Given the description of an element on the screen output the (x, y) to click on. 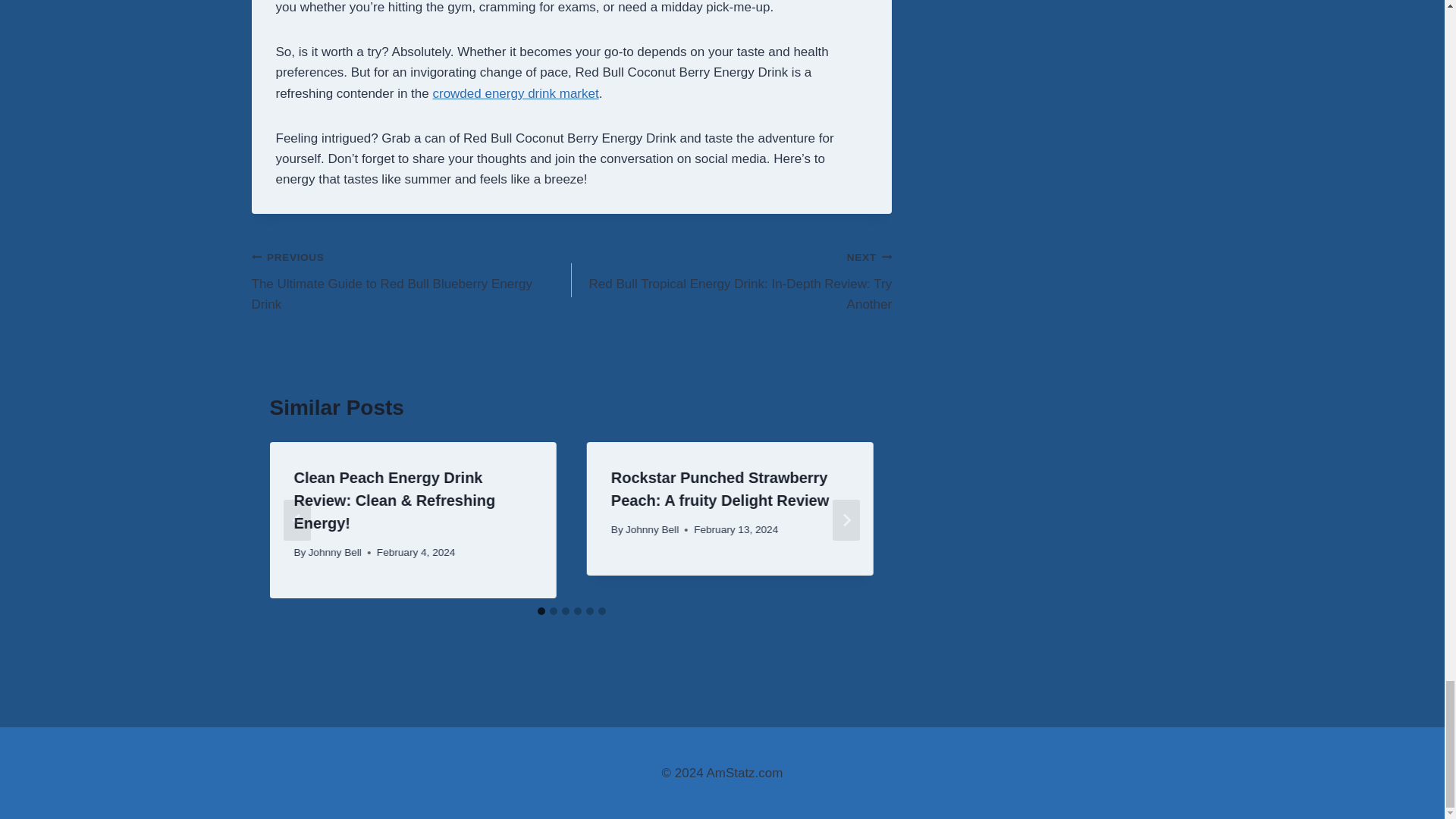
crowded energy drink market (515, 93)
